Given the description of an element on the screen output the (x, y) to click on. 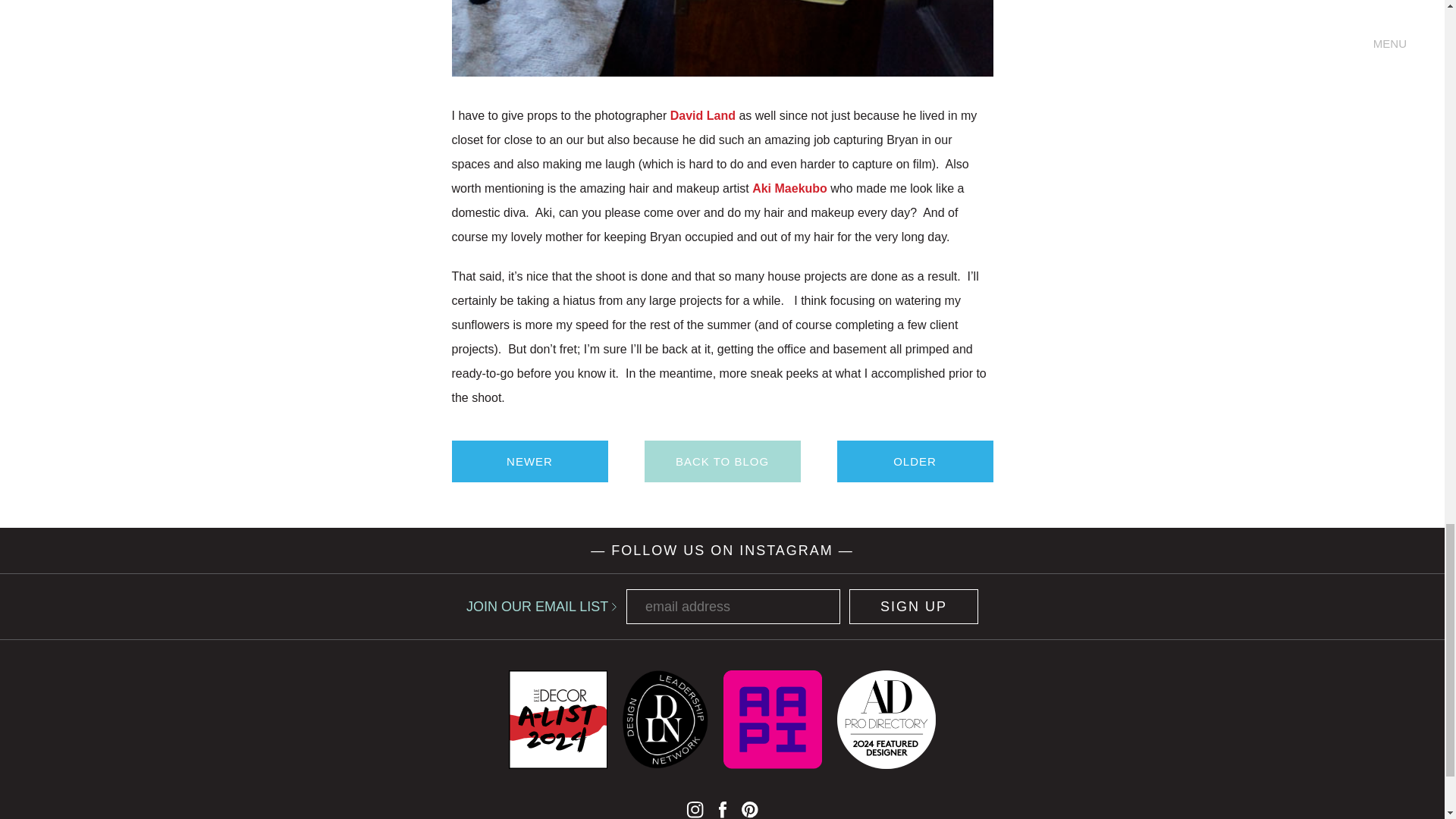
BACK TO BLOG (722, 461)
SIGN UP (913, 606)
email (733, 606)
OLDER (914, 461)
Aki Maekubo (789, 187)
NEWER (529, 461)
David Land (702, 115)
Instagram (695, 809)
